Given the description of an element on the screen output the (x, y) to click on. 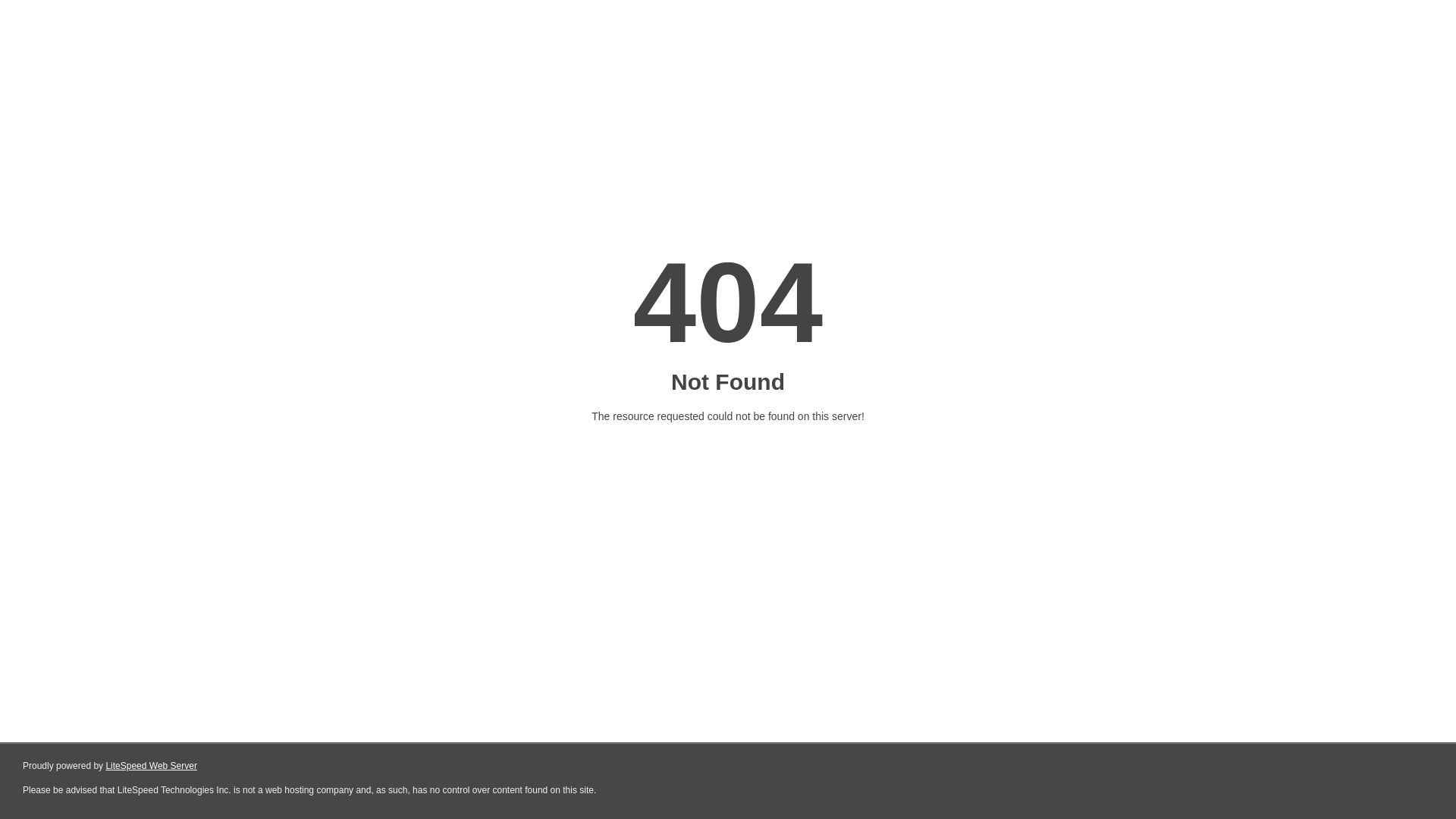
LiteSpeed Web Server Element type: text (151, 765)
